Given the description of an element on the screen output the (x, y) to click on. 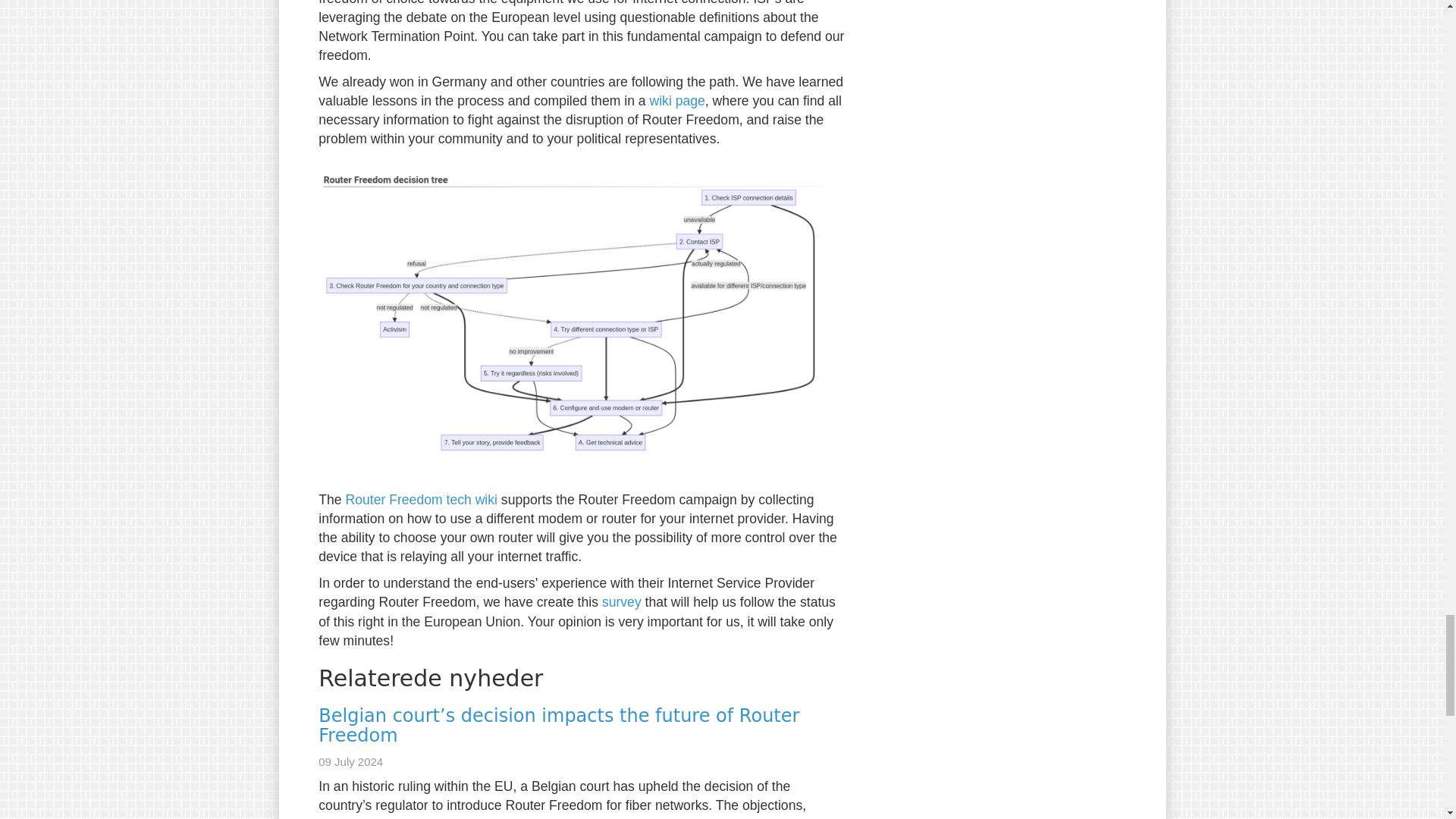
wiki page (676, 100)
